Given the description of an element on the screen output the (x, y) to click on. 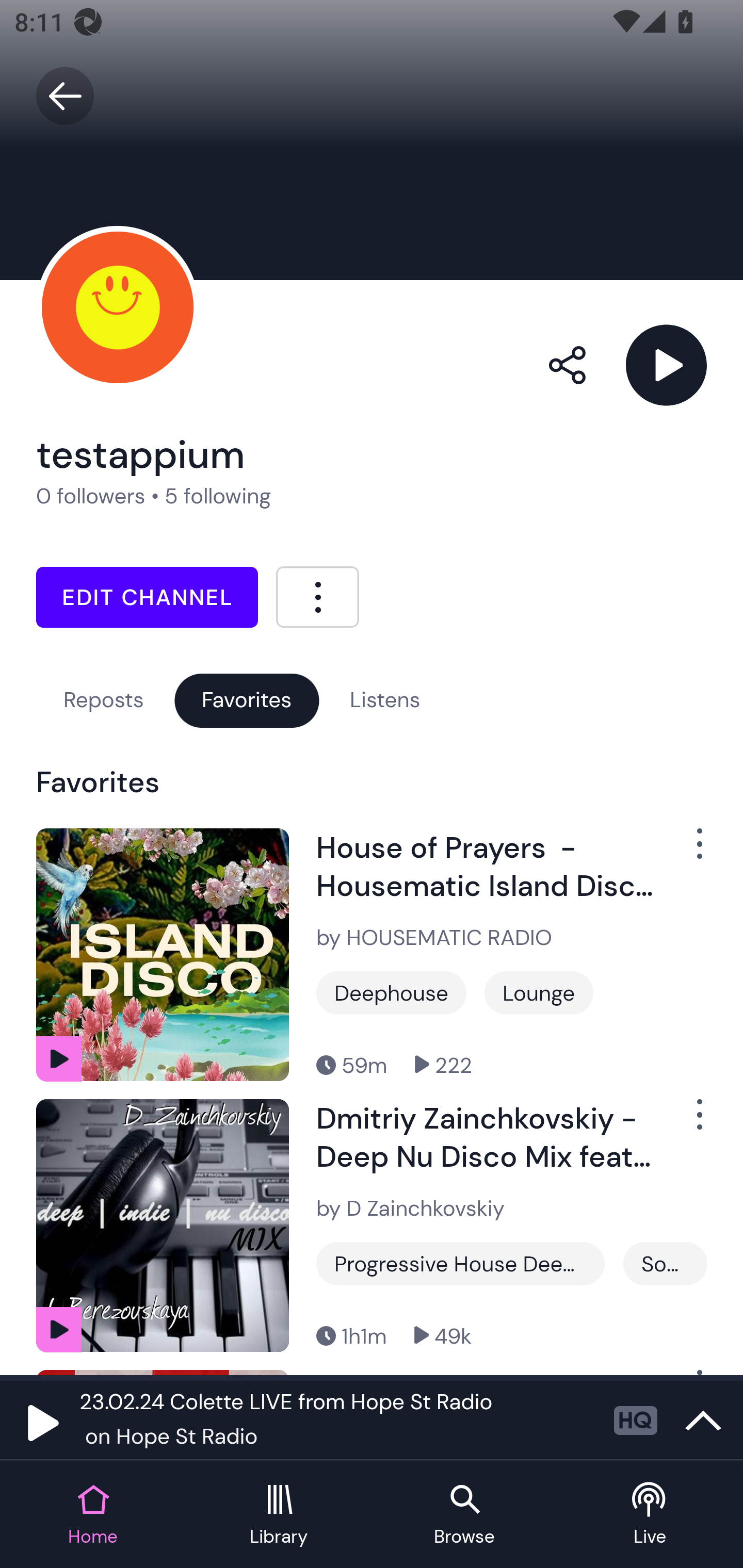
0 followers (90, 495)
5 following (217, 495)
More Menu (317, 596)
Edit Channel EDIT CHANNEL (146, 597)
Reposts (103, 699)
Favorites (246, 699)
Listens (384, 699)
Show Options Menu Button (688, 850)
Deephouse (391, 992)
Lounge (538, 992)
Show Options Menu Button (688, 1122)
Progressive House Deep House Tech House (460, 1263)
Soulful (664, 1263)
Home tab Home (92, 1515)
Library tab Library (278, 1515)
Browse tab Browse (464, 1515)
Live tab Live (650, 1515)
